Given the description of an element on the screen output the (x, y) to click on. 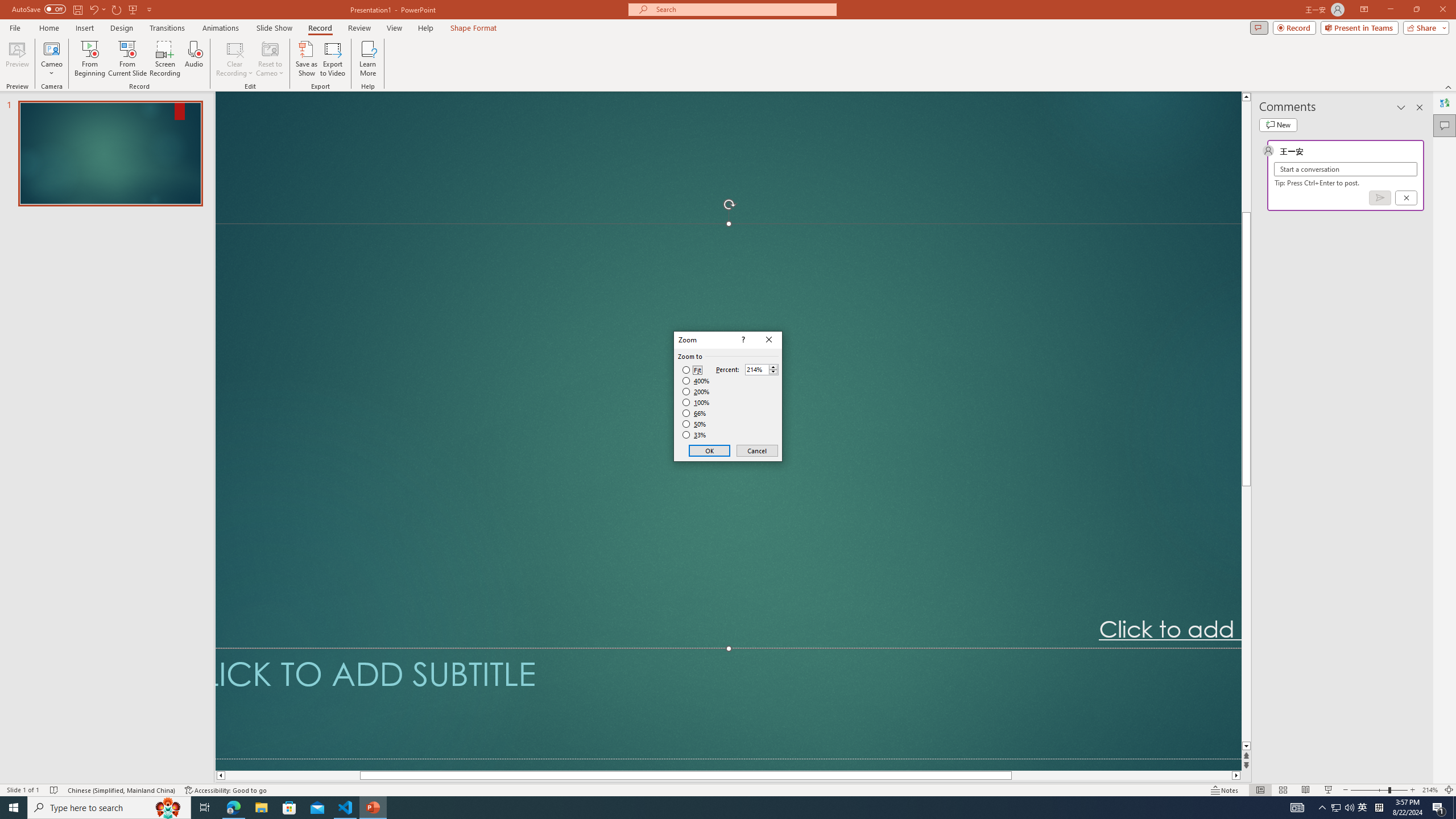
Context help (742, 339)
50% (694, 424)
Start a conversation (1344, 168)
New comment (1278, 124)
